Given the description of an element on the screen output the (x, y) to click on. 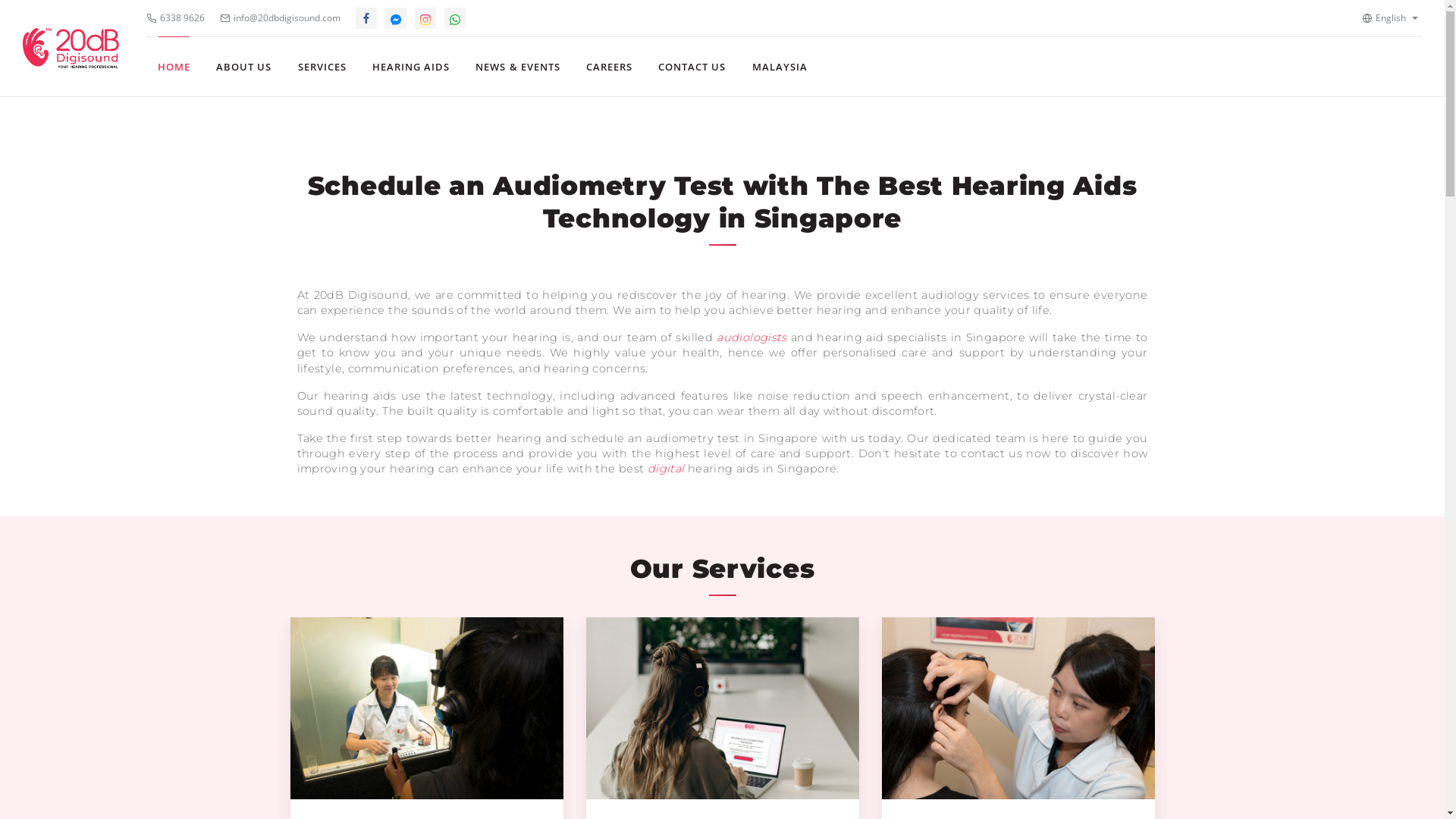
digital Element type: text (665, 468)
6338 9626 Element type: text (175, 18)
MALAYSIA Element type: text (779, 66)
CAREERS Element type: text (608, 66)
NEWS & EVENTS Element type: text (517, 66)
English Element type: text (1383, 18)
HOME Element type: text (173, 66)
audiologists Element type: text (751, 337)
info@20dbdigisound.com Element type: text (279, 18)
HEARING AIDS Element type: text (410, 66)
SERVICES Element type: text (321, 66)
ABOUT US Element type: text (243, 66)
CONTACT US Element type: text (691, 66)
